Given the description of an element on the screen output the (x, y) to click on. 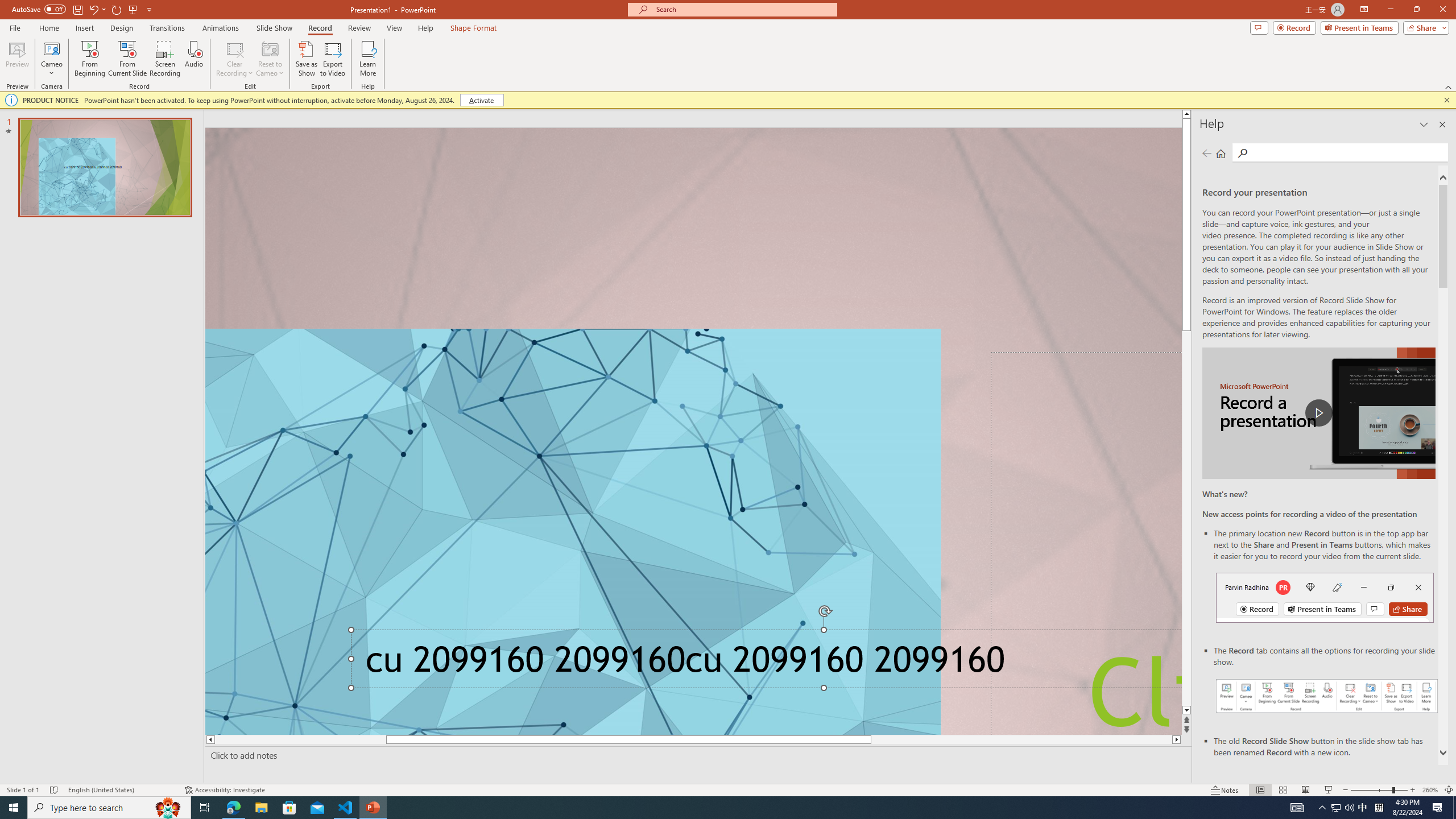
Record your presentations screenshot one (1326, 695)
Record button in top bar (1324, 597)
